Given the description of an element on the screen output the (x, y) to click on. 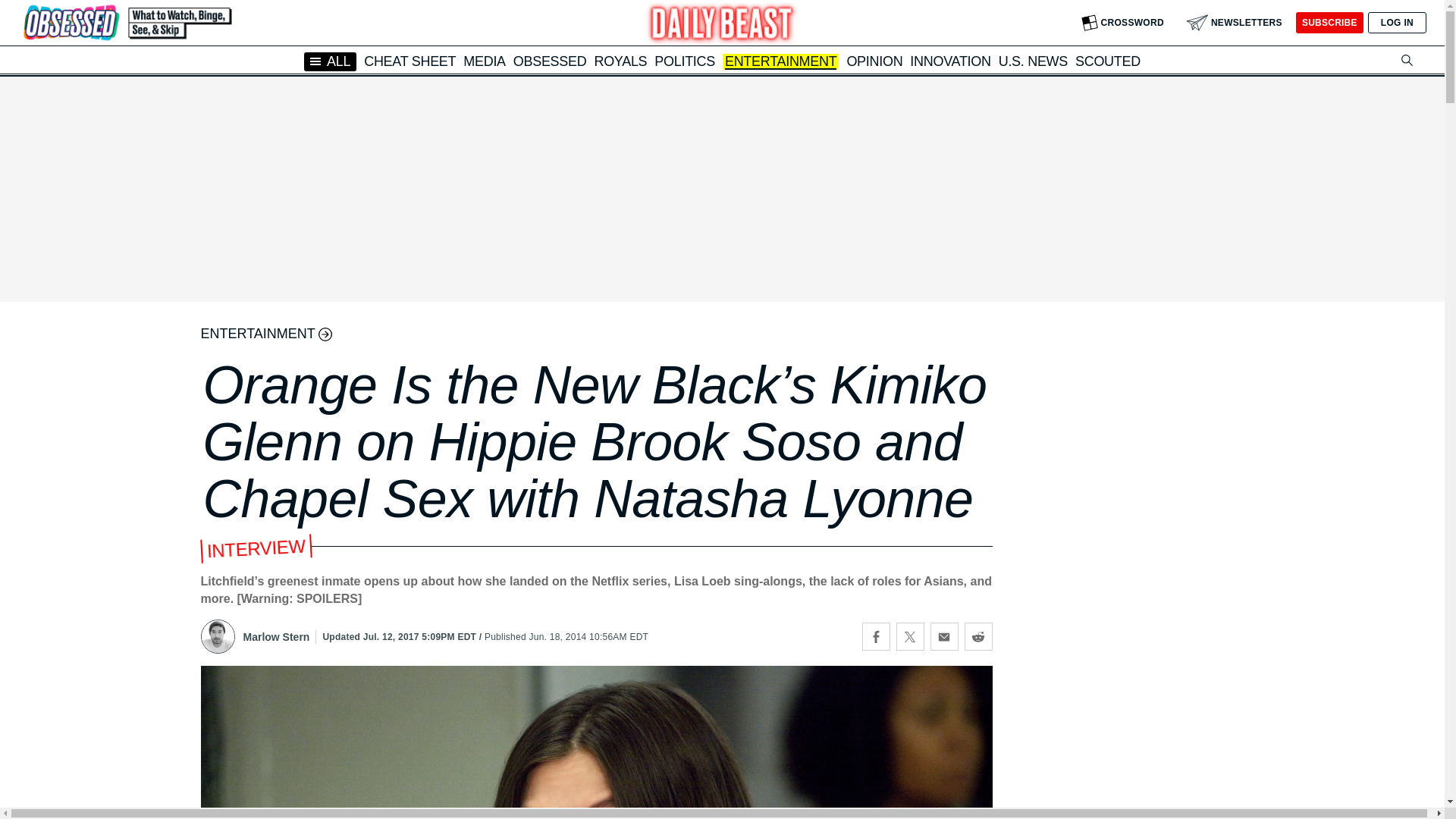
INNOVATION (950, 60)
OBSESSED (549, 60)
ROYALS (620, 60)
NEWSLETTERS (1234, 22)
POLITICS (683, 60)
MEDIA (484, 60)
ENTERTAINMENT (780, 61)
CROSSWORD (1122, 22)
OPINION (873, 60)
